Given the description of an element on the screen output the (x, y) to click on. 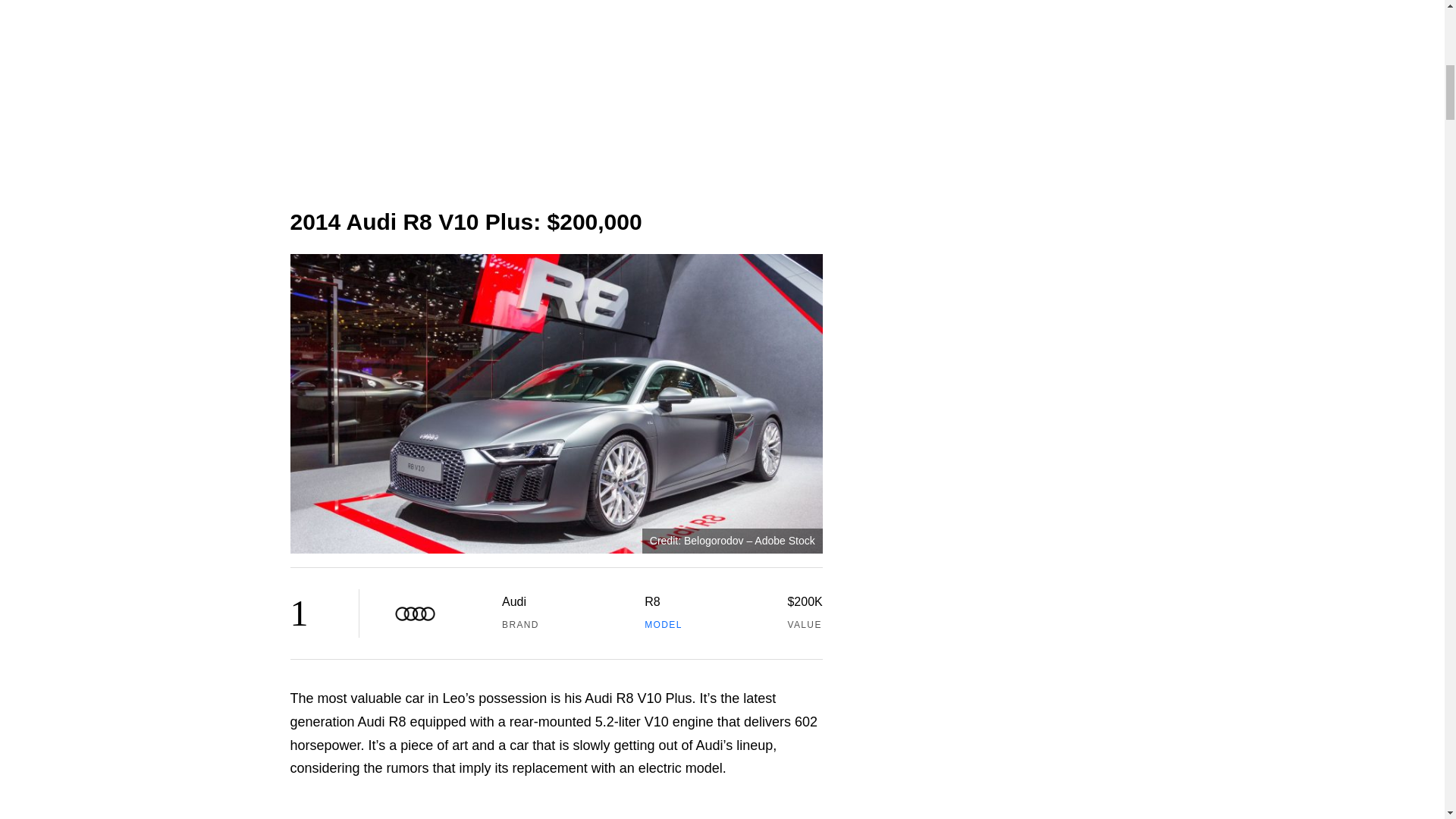
MODEL (663, 624)
